Given the description of an element on the screen output the (x, y) to click on. 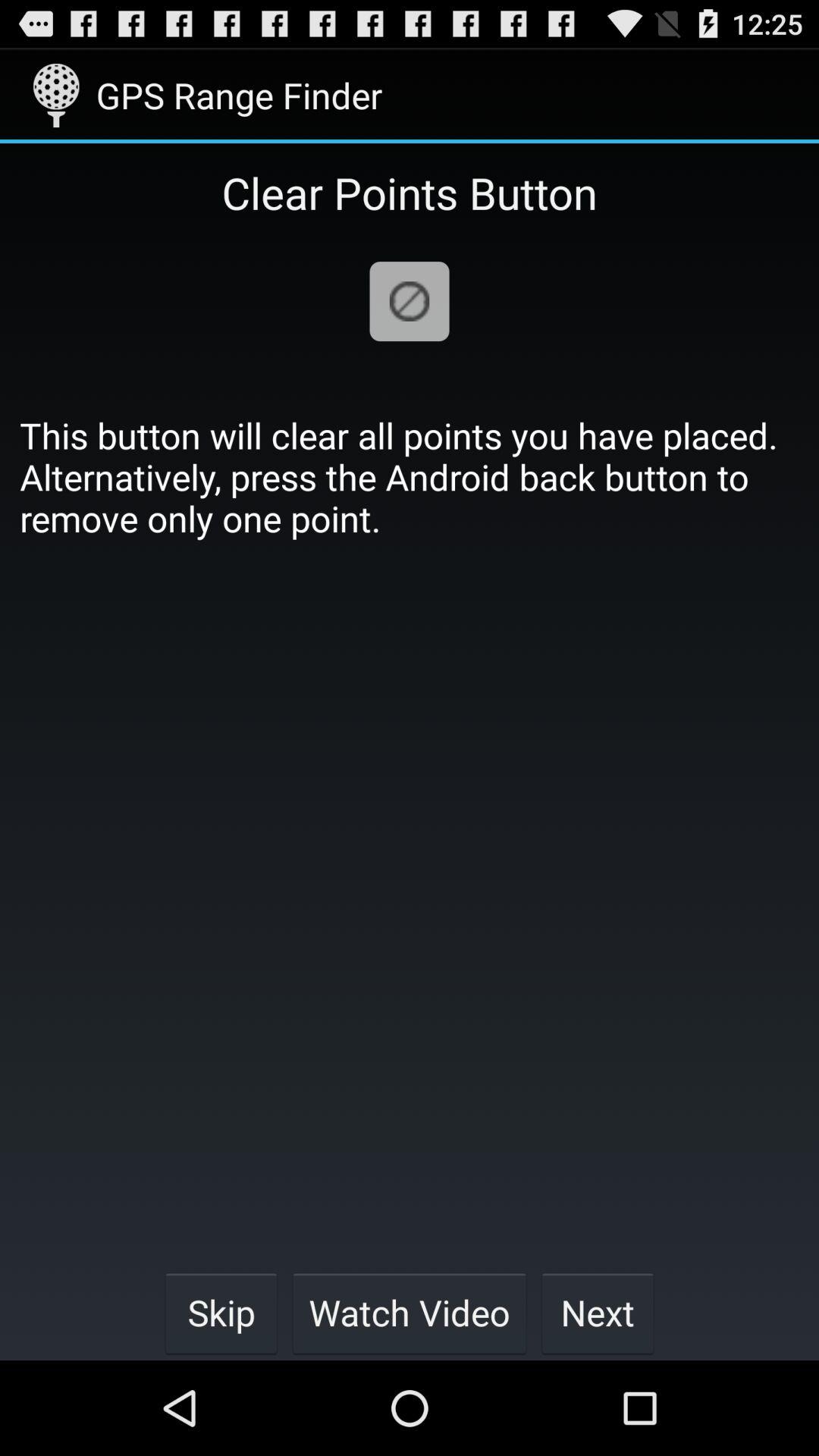
press button next to the next item (409, 1312)
